Given the description of an element on the screen output the (x, y) to click on. 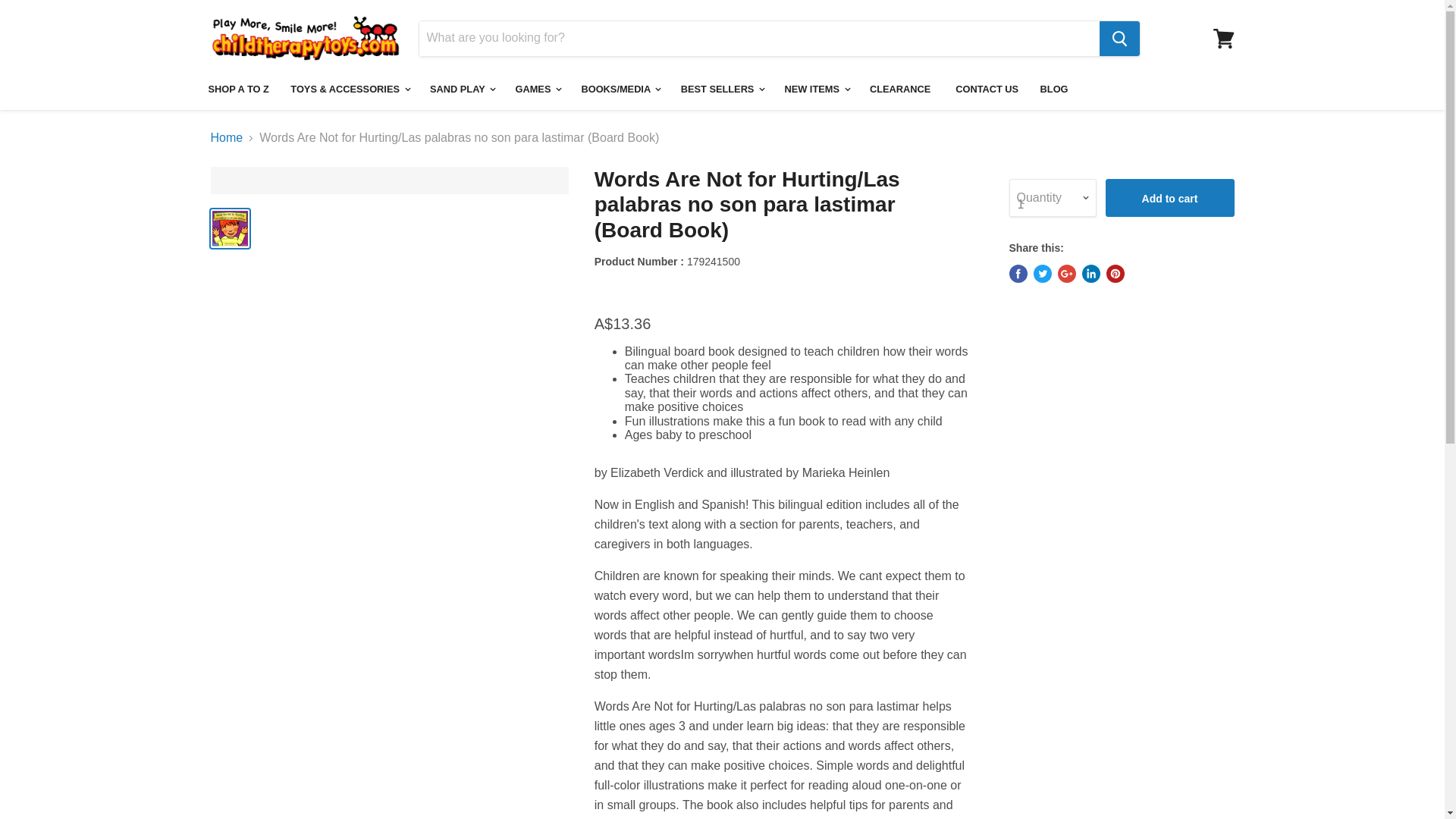
View cart (1223, 38)
SHOP A TO Z (238, 89)
